Given the description of an element on the screen output the (x, y) to click on. 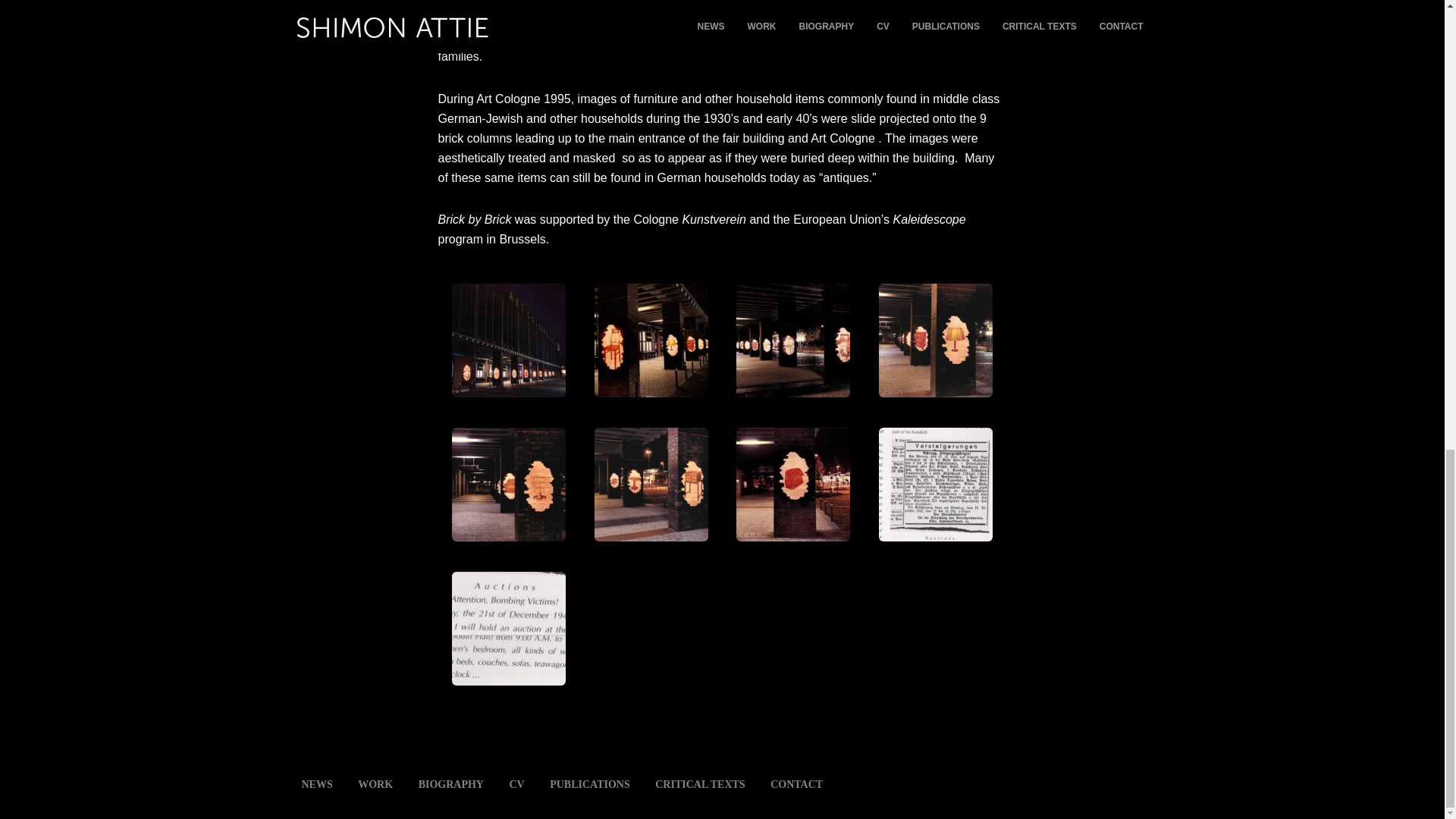
CONTACT (796, 784)
CRITICAL TEXTS (699, 784)
PUBLICATIONS (590, 784)
WORK (375, 784)
CV (516, 784)
BIOGRAPHY (451, 784)
NEWS (316, 784)
